Given the description of an element on the screen output the (x, y) to click on. 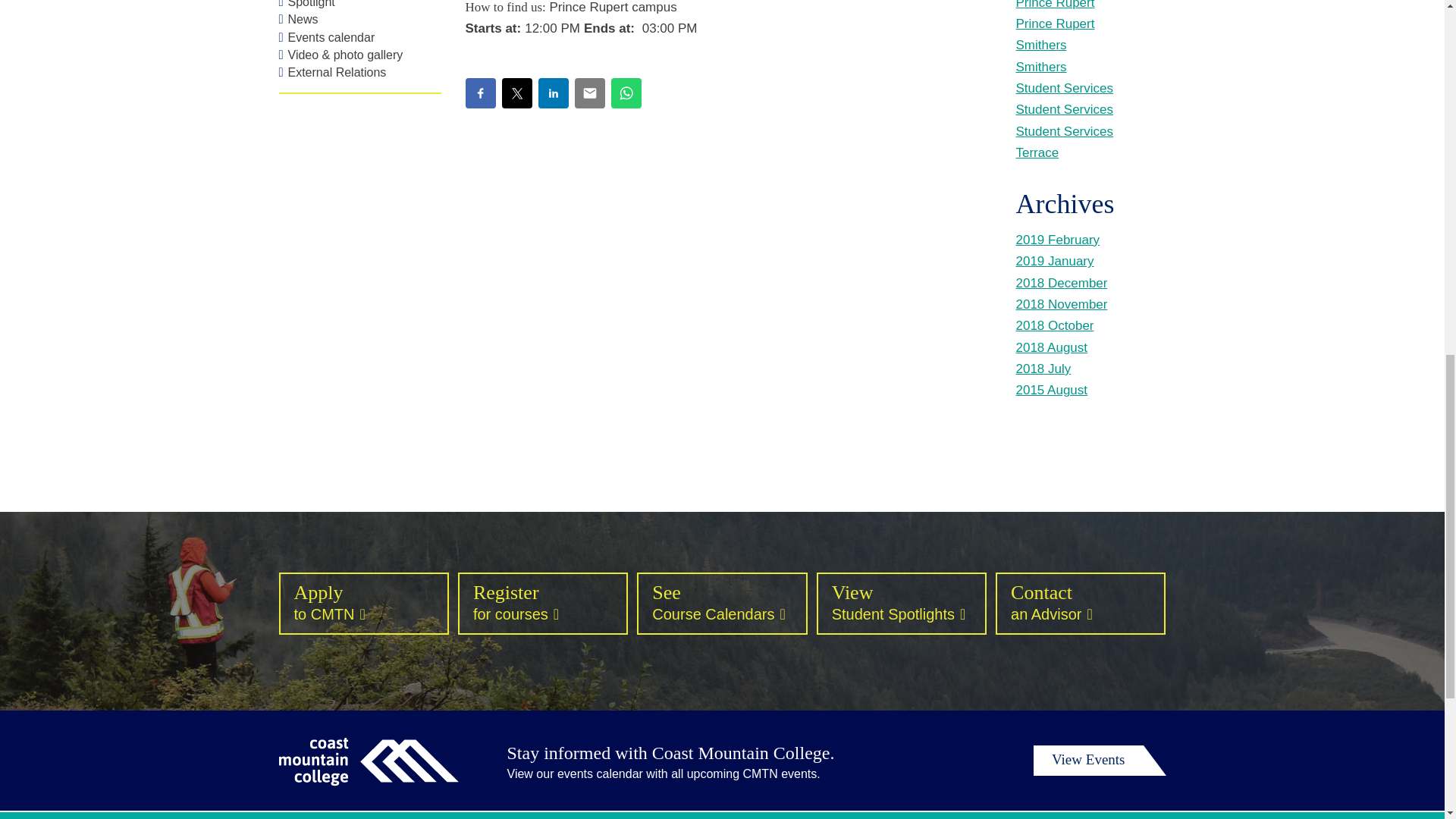
footer-logo (368, 761)
